Given the description of an element on the screen output the (x, y) to click on. 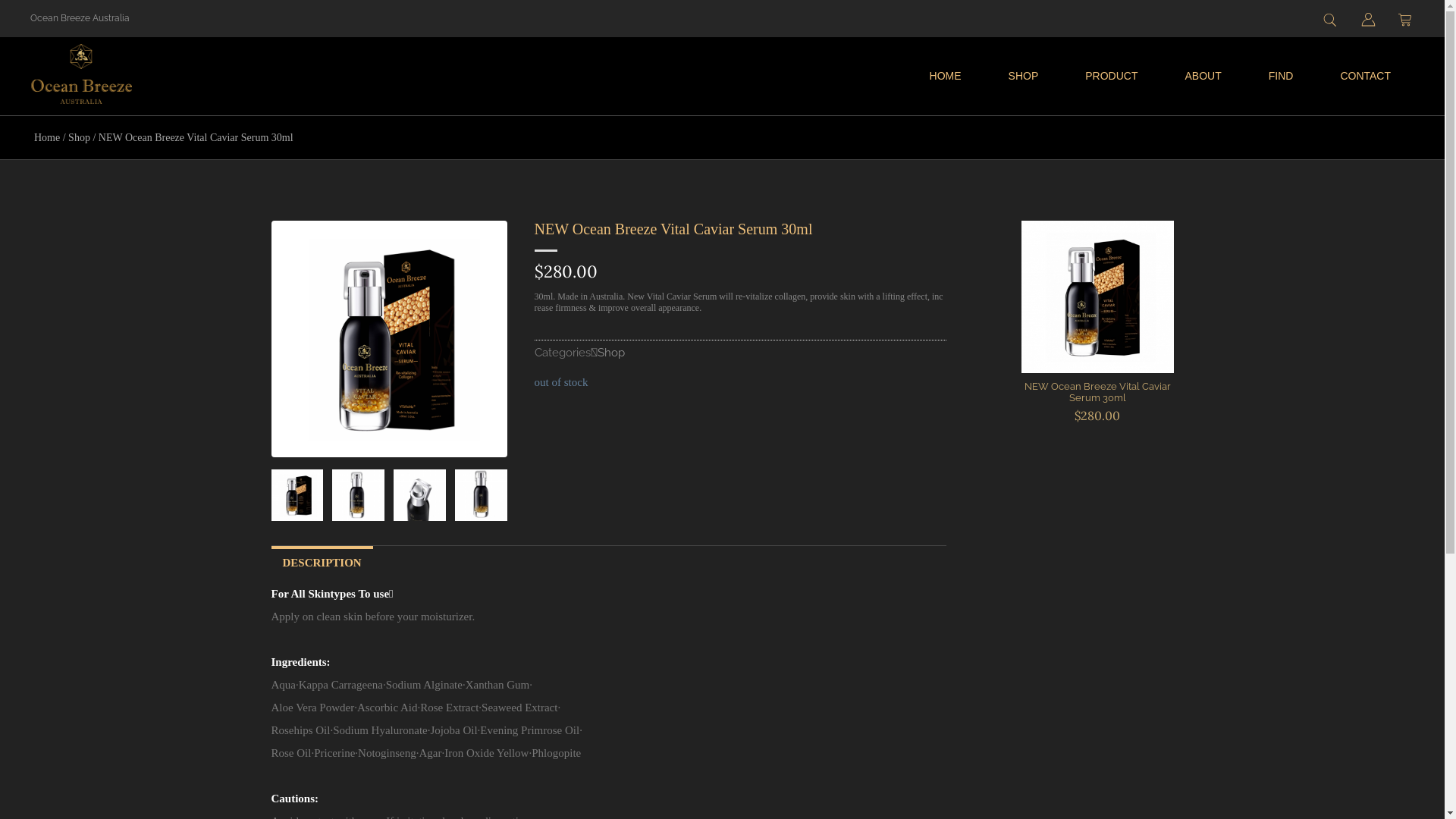
Shop Element type: text (610, 352)
ABOUT Element type: text (1202, 76)
NEW Ocean Breeze Vital Caviar Serum 30ml Element type: text (1096, 391)
SHOP Element type: text (1023, 76)
Shop Element type: text (79, 137)
PRODUCT Element type: text (1111, 76)
CONTACT Element type: text (1365, 76)
Home Element type: text (46, 137)
HOME Element type: text (945, 76)
FIND Element type: text (1280, 76)
DESCRIPTION Element type: text (322, 561)
3 Element type: hover (481, 494)
